Given the description of an element on the screen output the (x, y) to click on. 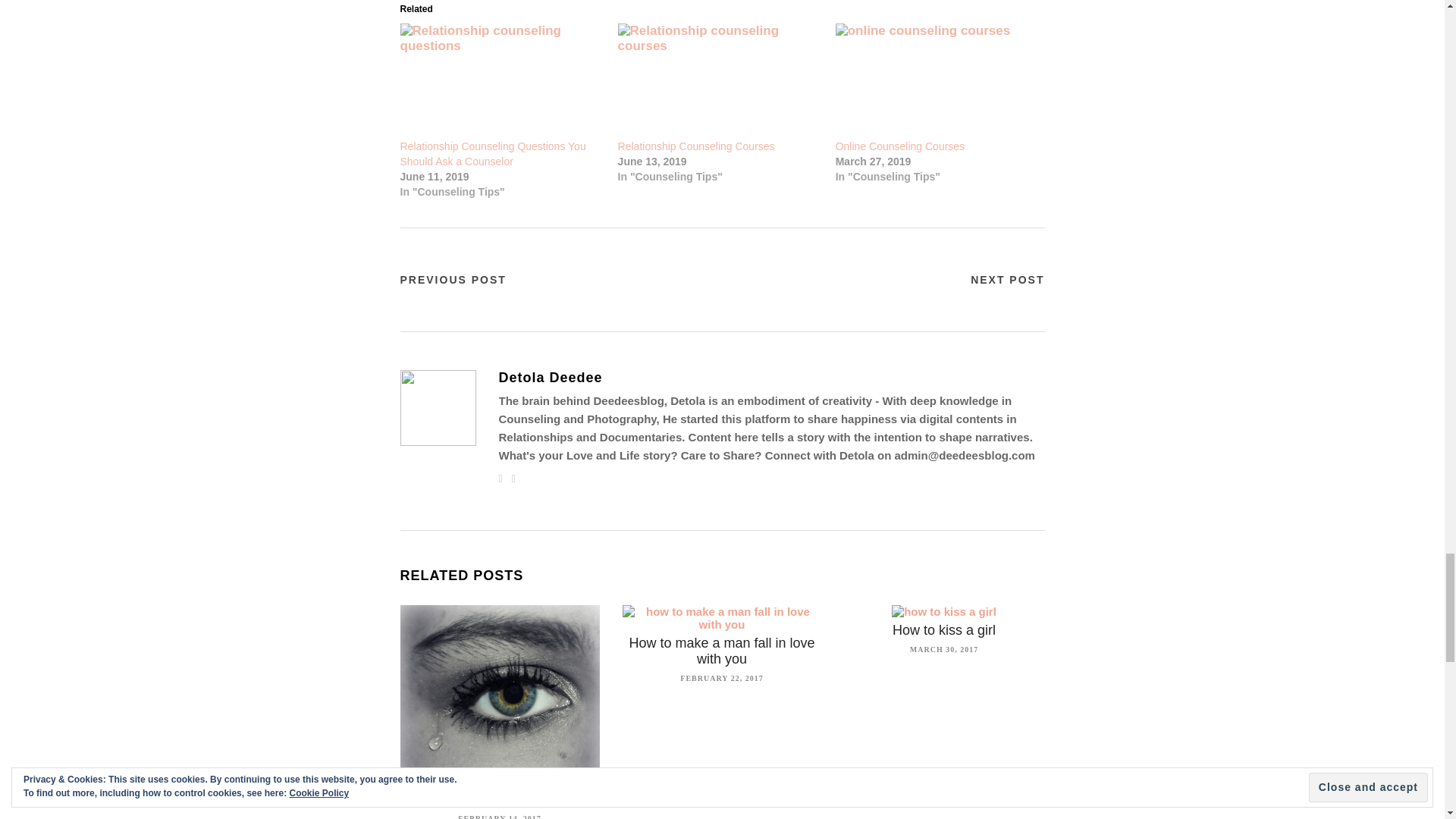
Relationship Counseling Courses (695, 146)
Online Counseling Courses (899, 146)
Detola Deedee (772, 377)
Relationship Counseling Questions You Should Ask a Counselor (501, 81)
PREVIOUS POST (453, 279)
How to get over an ex (499, 798)
NEXT POST (1007, 279)
Relationship Counseling Questions You Should Ask a Counselor (493, 153)
Posts by Detola Deedee (772, 377)
Relationship Counseling Questions You Should Ask a Counselor (493, 153)
Online Counseling Courses (936, 81)
FEBRUARY 14, 2017 (499, 814)
How to make a man fall in love with you (720, 650)
How to kiss a girl (943, 630)
Online Counseling Courses (899, 146)
